Given the description of an element on the screen output the (x, y) to click on. 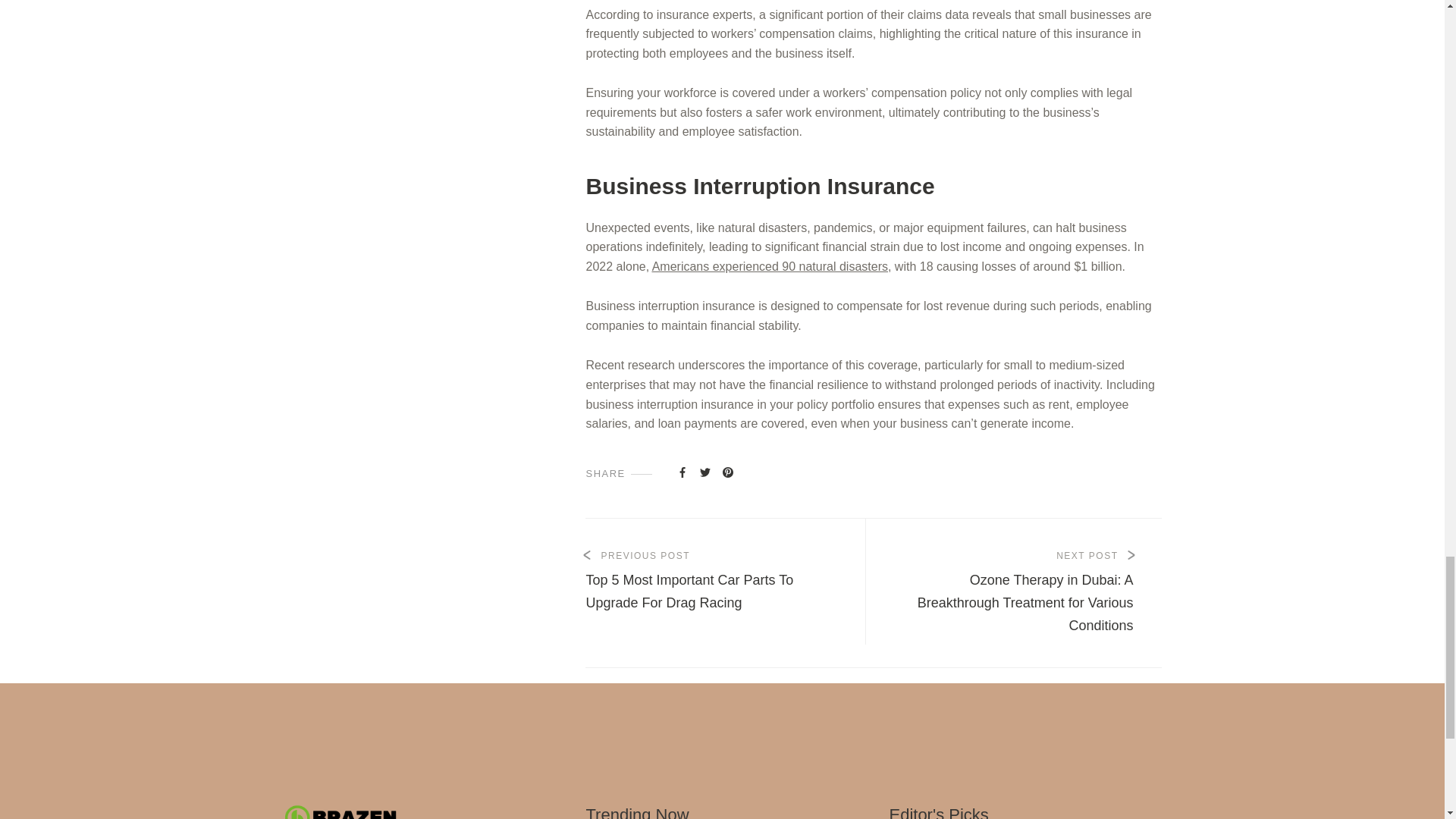
5 Types of Insurance That Are Key For New Businesses (705, 472)
5 Types of Insurance That Are Key For New Businesses (682, 472)
Americans experienced 90 natural disasters (770, 266)
5 Types of Insurance That Are Key For New Businesses (727, 472)
